Given the description of an element on the screen output the (x, y) to click on. 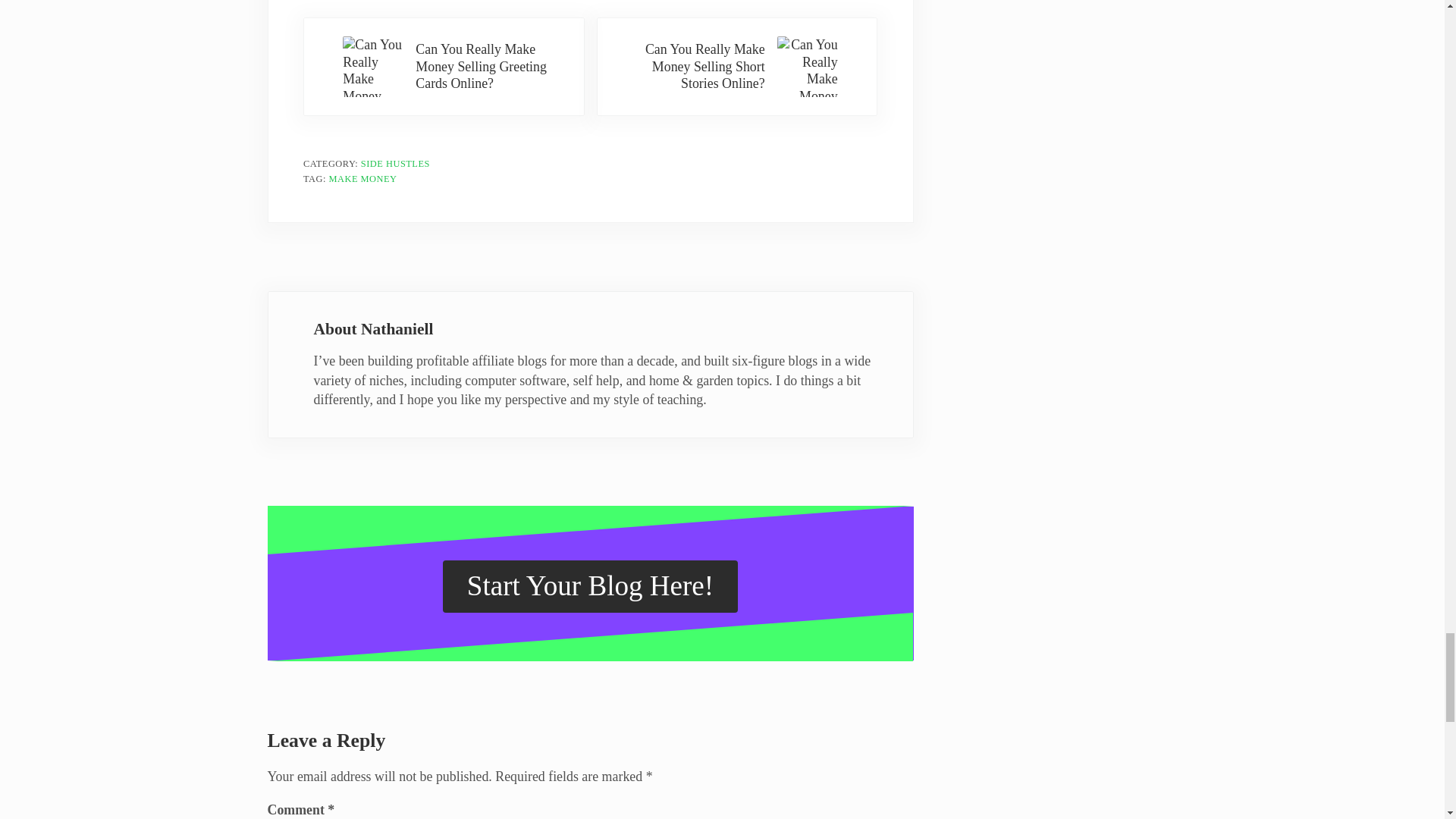
SIDE HUSTLES (395, 163)
